Given the description of an element on the screen output the (x, y) to click on. 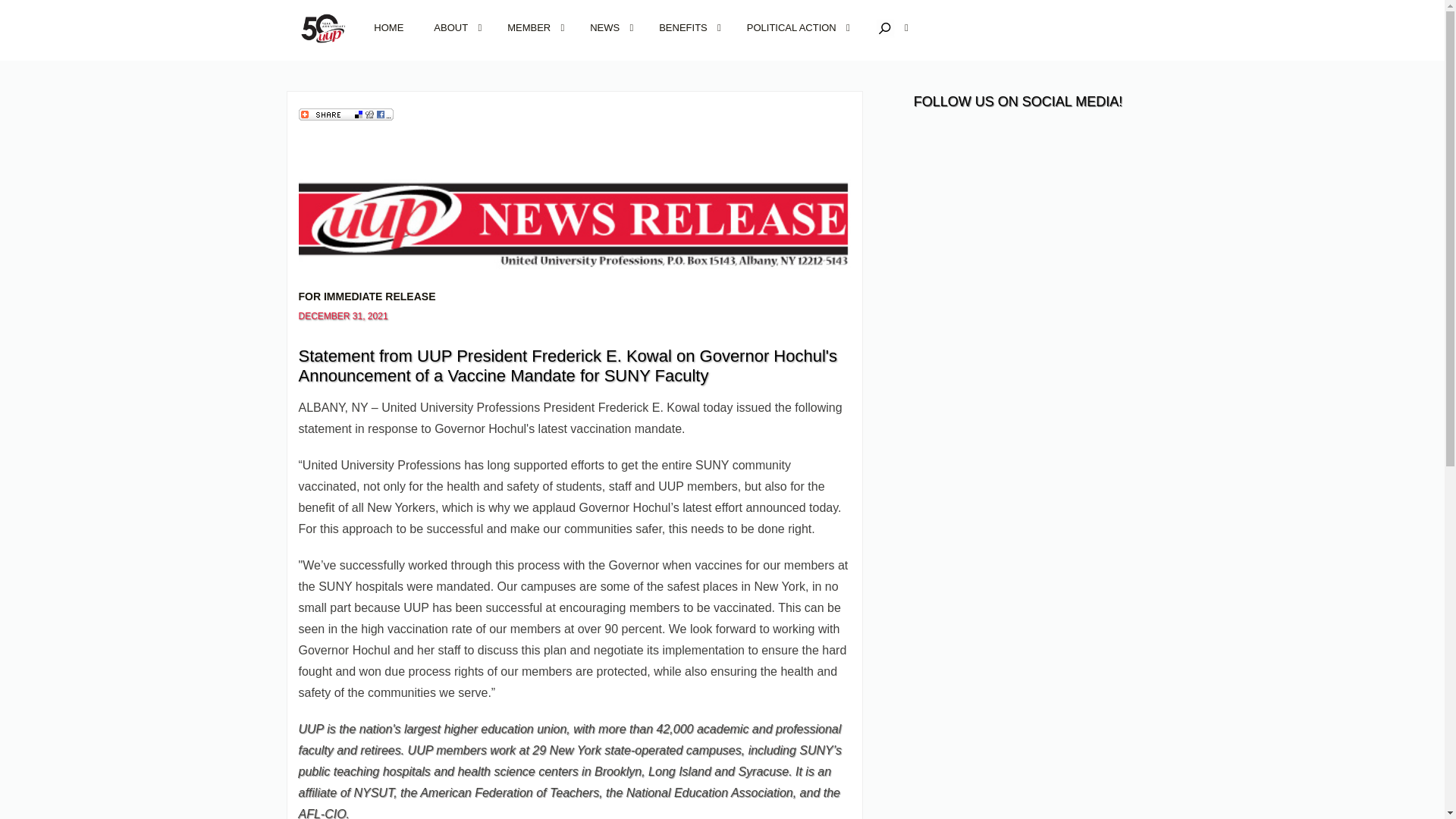
NEWS (609, 27)
About UUP (455, 27)
ABOUT (455, 27)
MEMBER (533, 27)
HOME (388, 27)
BENEFITS (687, 27)
Home (388, 27)
